Given the description of an element on the screen output the (x, y) to click on. 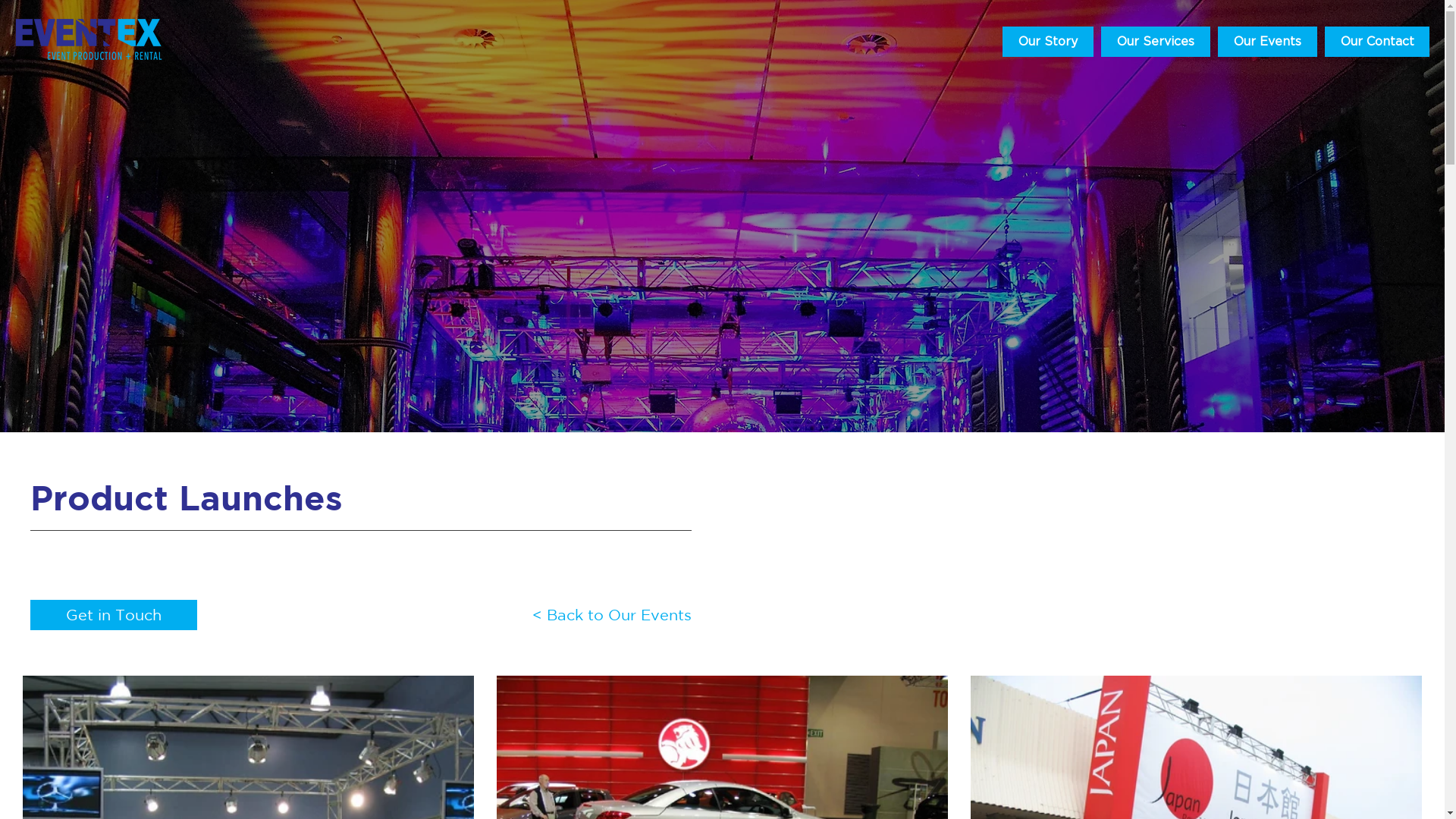
< Back to Our Events Element type: text (557, 614)
Our Story Element type: text (1047, 41)
Our Contact Element type: text (1376, 41)
Our Services Element type: text (1155, 41)
Our Events Element type: text (1267, 41)
Get in Touch Element type: text (113, 614)
